Given the description of an element on the screen output the (x, y) to click on. 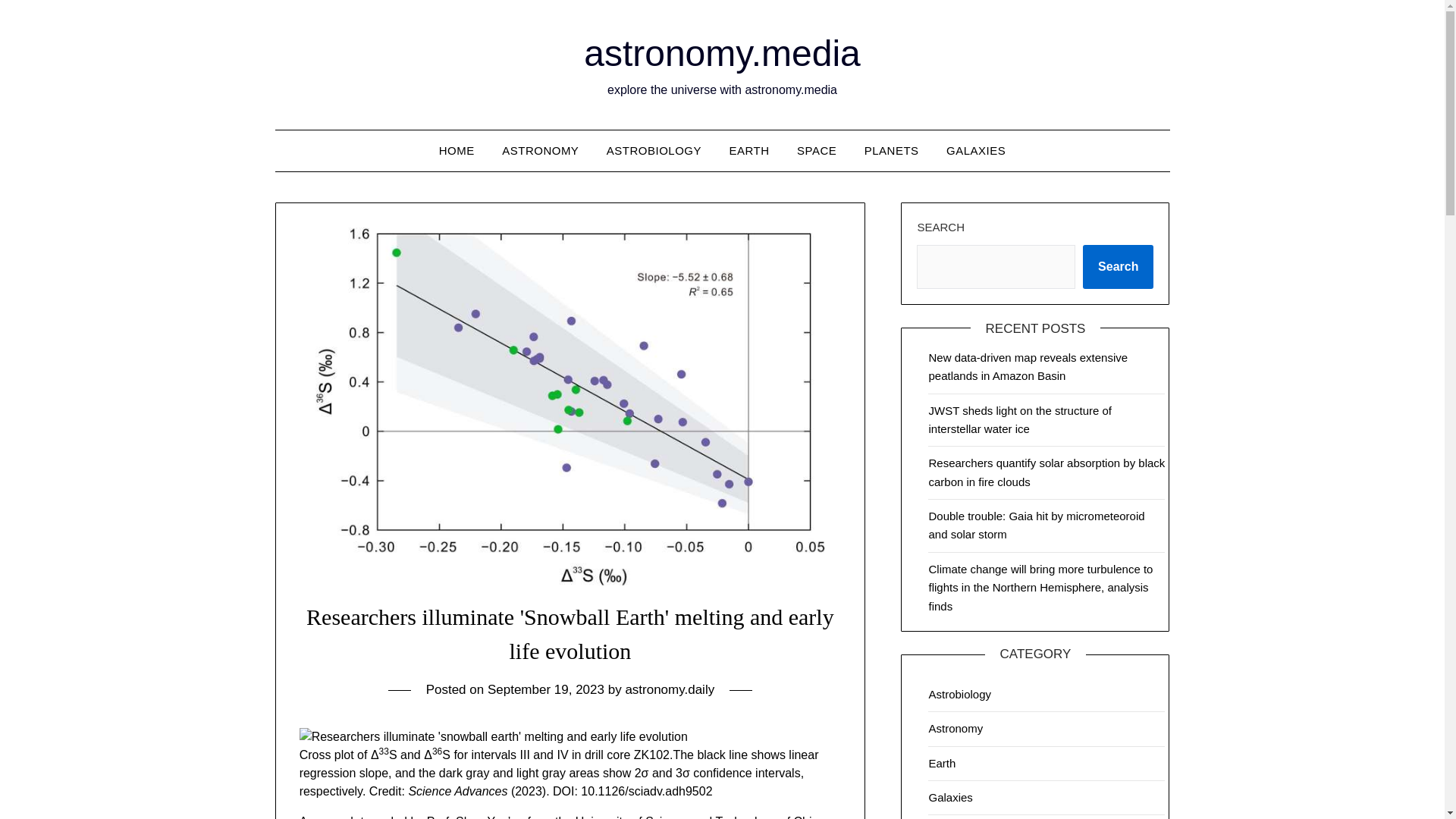
Earth (941, 762)
Double trouble: Gaia hit by micrometeoroid and solar storm (1036, 524)
HOME (456, 150)
astronomy.daily (669, 689)
SPACE (816, 150)
GALAXIES (975, 150)
PLANETS (891, 150)
JWST sheds light on the structure of interstellar water ice (1020, 419)
astronomy.media (721, 53)
ASTROBIOLOGY (653, 150)
Search (1118, 266)
Astrobiology (959, 694)
